Given the description of an element on the screen output the (x, y) to click on. 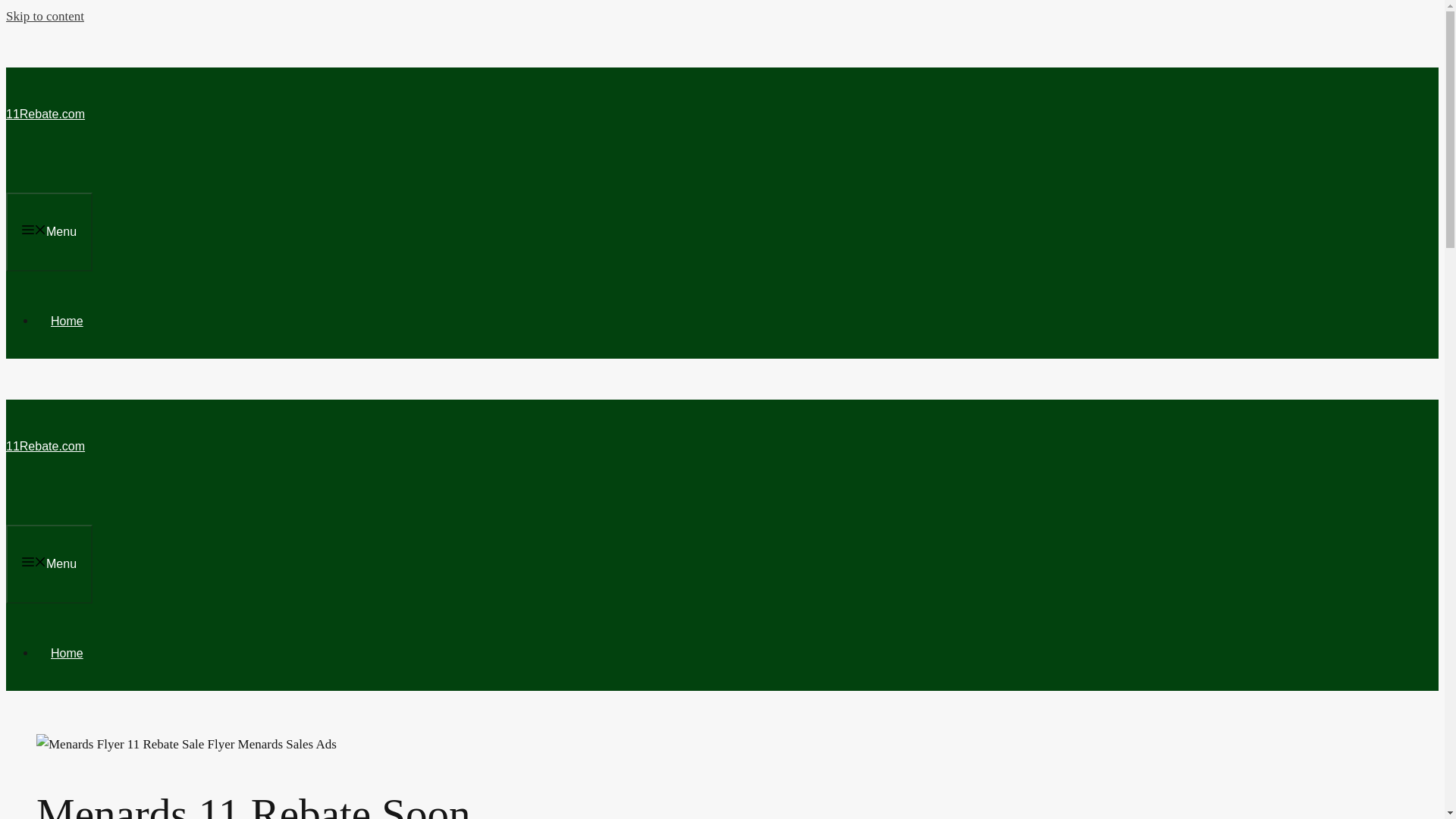
Skip to content (44, 16)
Home (66, 320)
Menu (49, 563)
Menu (49, 231)
11Rebate.com (44, 113)
Skip to content (44, 16)
11Rebate.com (44, 445)
Home (66, 653)
